Given the description of an element on the screen output the (x, y) to click on. 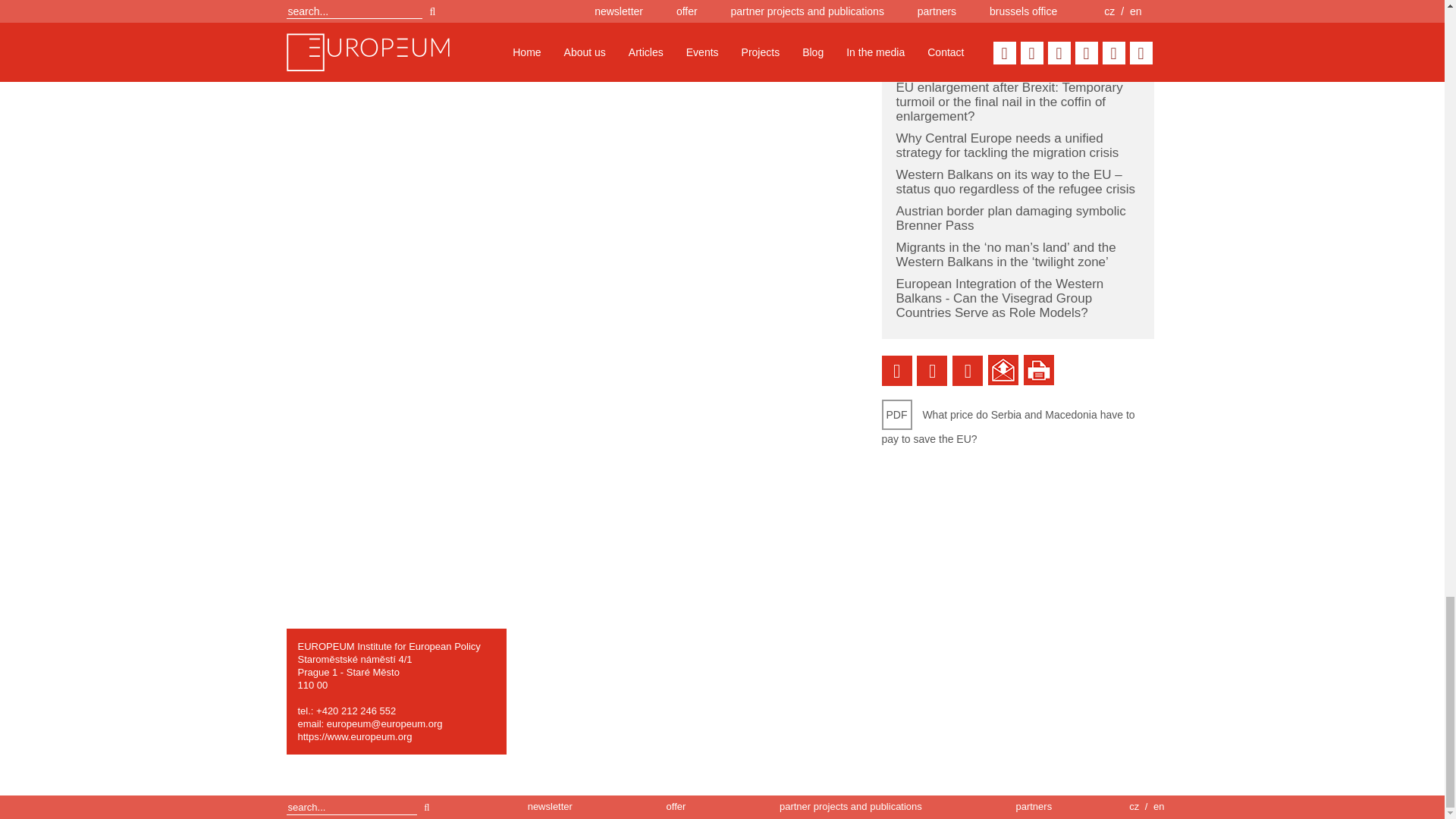
newsletter (549, 806)
